Given the description of an element on the screen output the (x, y) to click on. 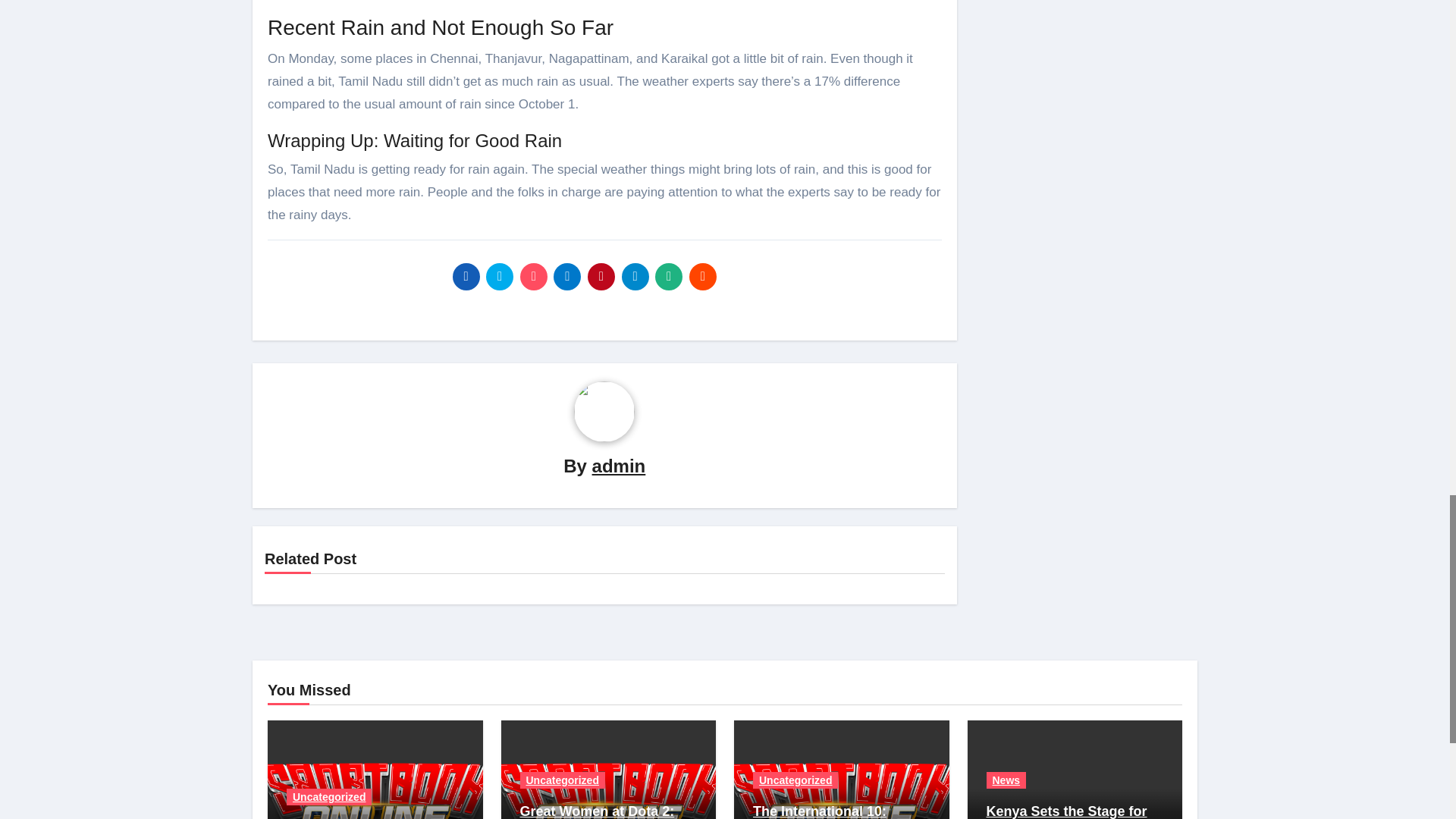
admin (619, 465)
